Given the description of an element on the screen output the (x, y) to click on. 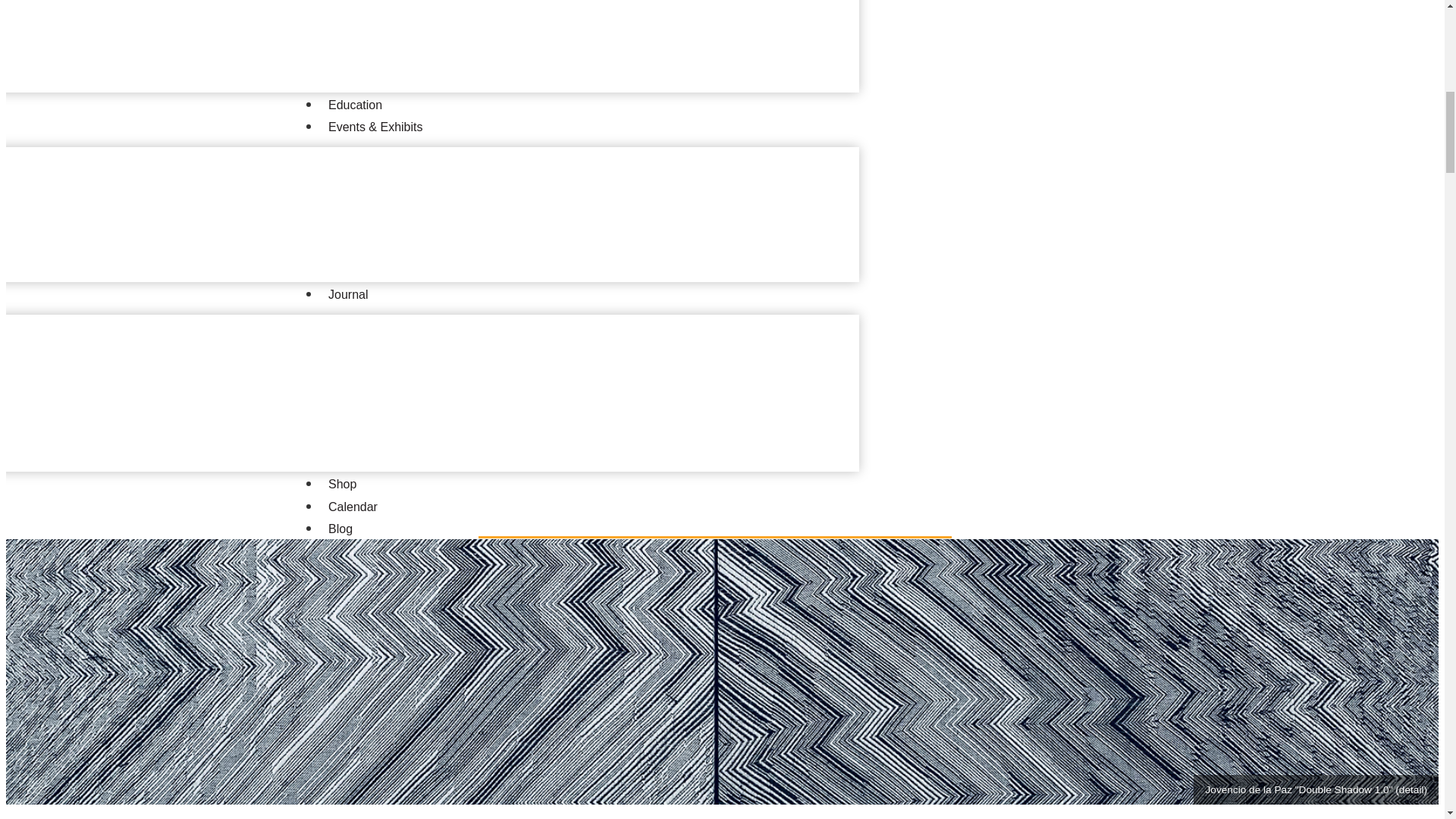
Blog (339, 528)
Shop (342, 483)
Journal (347, 294)
Calendar (352, 506)
Education (355, 104)
